Given the description of an element on the screen output the (x, y) to click on. 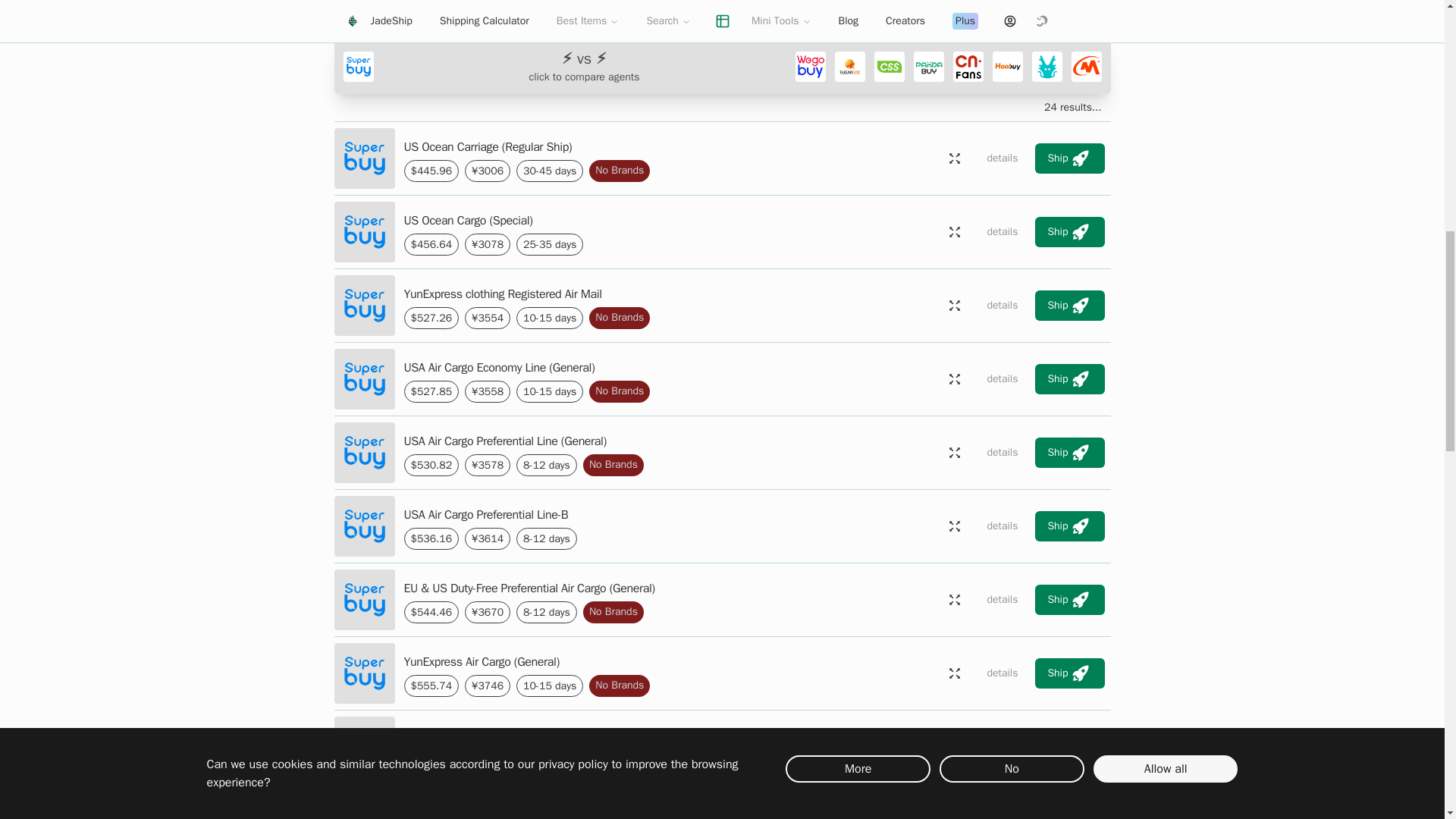
fullscreen details (954, 378)
fullscreen details (954, 747)
Superbuy Sign-Up (1034, 4)
fullscreen details (954, 599)
fullscreen details (954, 673)
fullscreen details (954, 452)
fullscreen details (954, 526)
Superbuy Sign-Up (1034, 9)
fullscreen details (954, 812)
fullscreen details (954, 158)
fullscreen details (954, 232)
fullscreen details (954, 305)
